Given the description of an element on the screen output the (x, y) to click on. 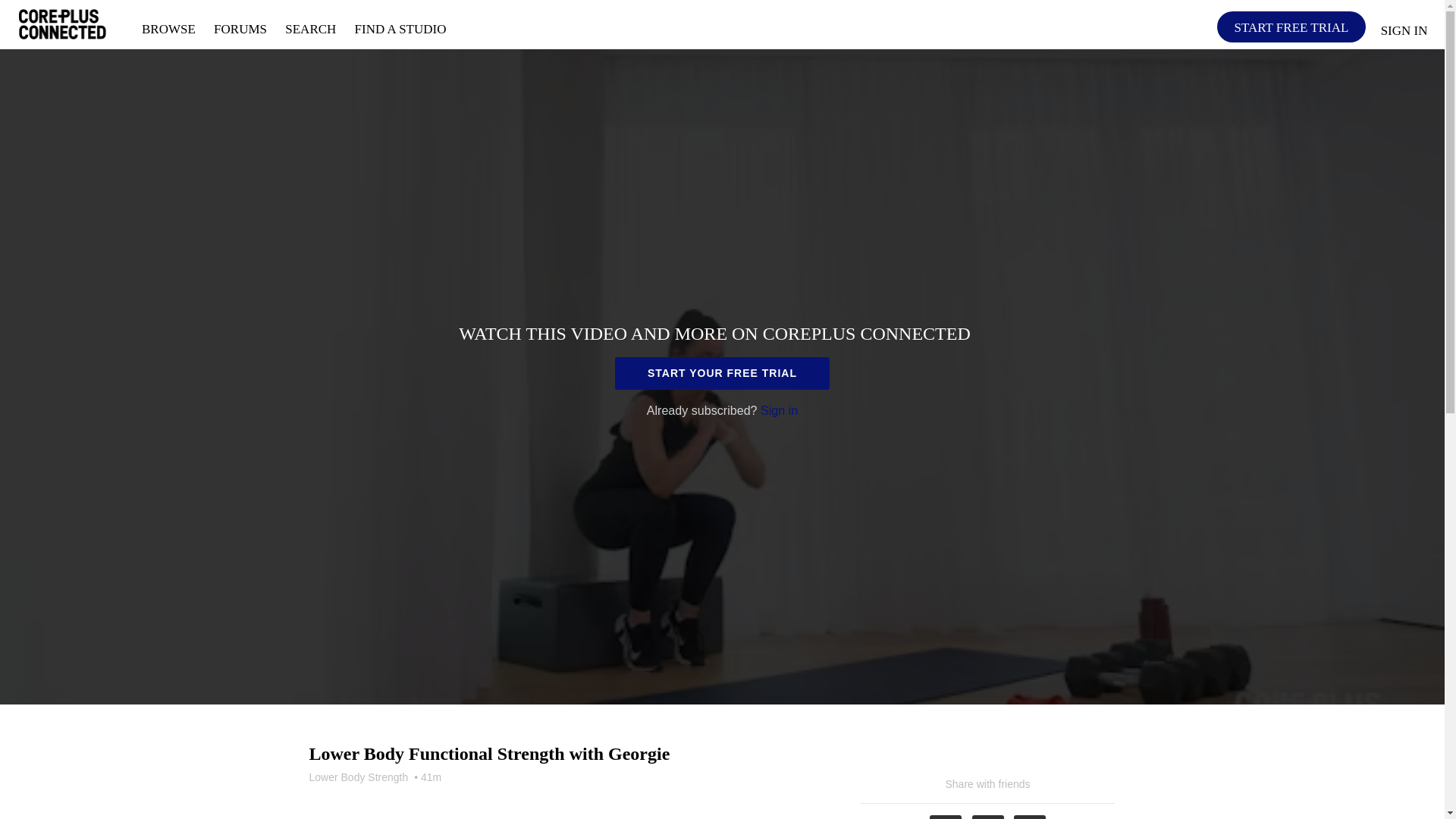
3 comments (344, 796)
BROWSE (169, 29)
START FREE TRIAL (1291, 26)
Lower Body Strength (358, 776)
Twitter (988, 816)
SEARCH (312, 29)
FORUMS (242, 29)
SIGN IN (1404, 26)
Facebook (945, 816)
FIND A STUDIO (400, 29)
START YOUR FREE TRIAL (721, 373)
Email (1029, 816)
Sign in (778, 409)
View Latest Comments (344, 796)
Skip to main content (48, 7)
